Given the description of an element on the screen output the (x, y) to click on. 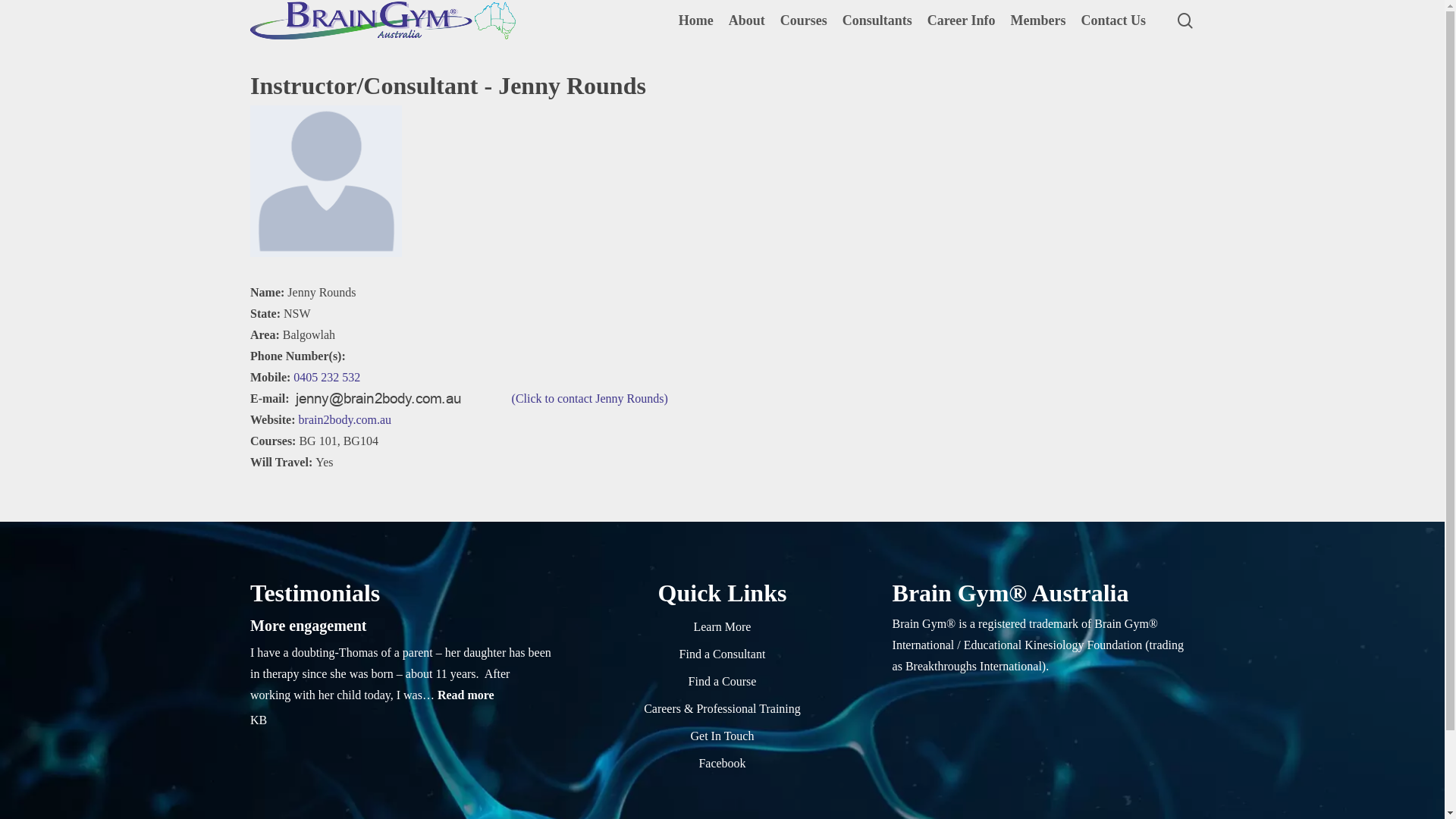
Facebook Element type: text (721, 763)
Consultants Element type: text (877, 20)
Get In Touch Element type: text (721, 735)
Careers & Professional Training Element type: text (721, 708)
0405 232 532 Element type: text (326, 376)
Courses Element type: text (803, 20)
Members Element type: text (1038, 20)
Learn More Element type: text (721, 626)
Home Element type: text (695, 20)
Career Info Element type: text (961, 20)
Find a Consultant Element type: text (721, 654)
search Element type: text (1185, 20)
Breakthroughs International Element type: text (973, 665)
Find a Course Element type: text (721, 681)
Contact Us Element type: text (1113, 20)
(Click to contact Jenny Rounds) Element type: text (480, 398)
About Element type: text (746, 20)
brain2body.com.au Element type: text (344, 419)
